Given the description of an element on the screen output the (x, y) to click on. 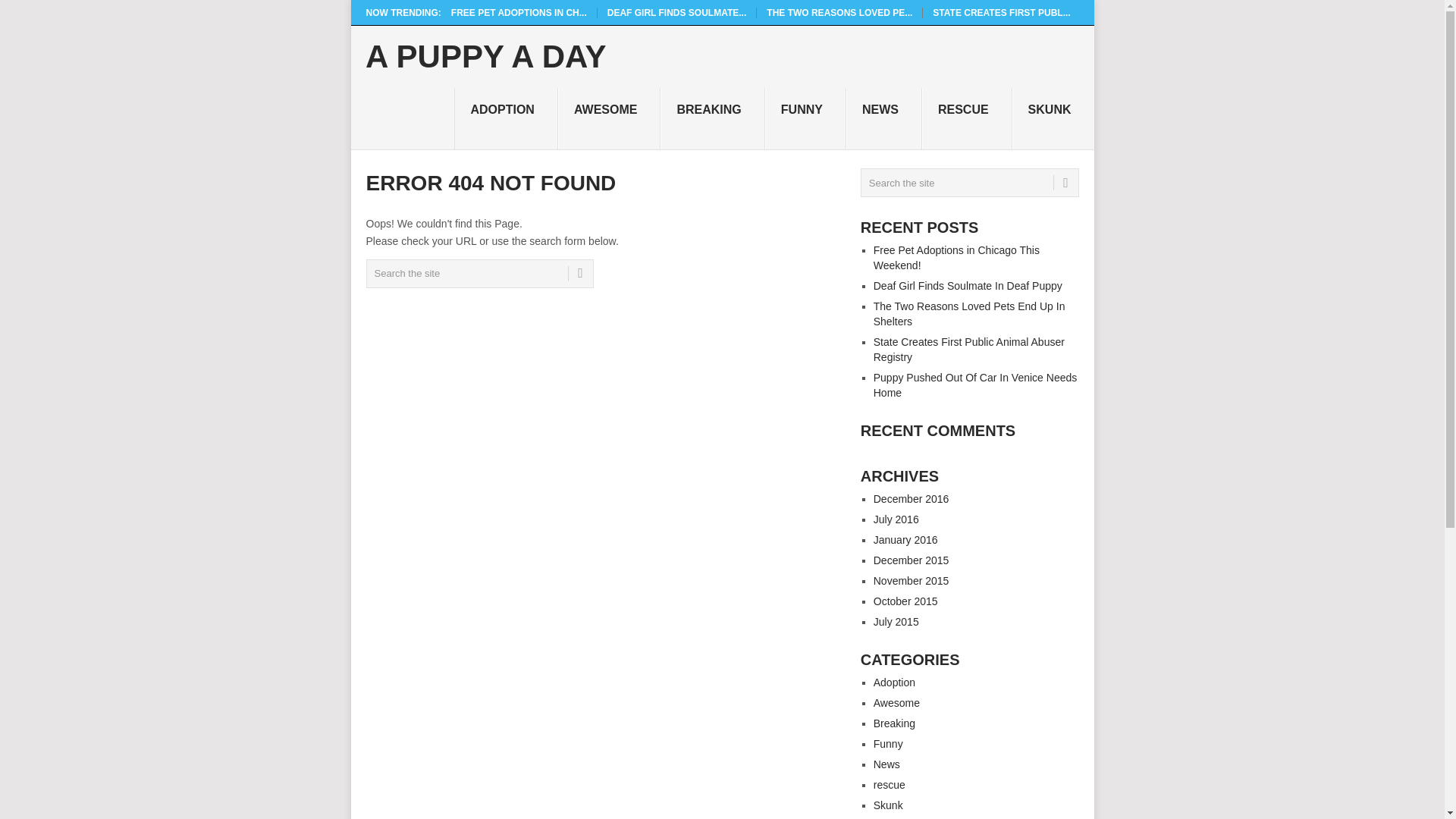
SKUNK (1052, 118)
Adoption (894, 682)
DEAF GIRL FINDS SOULMATE... (676, 12)
ADOPTION (505, 118)
THE TWO REASONS LOVED PE... (839, 12)
rescue (889, 784)
December 2016 (911, 499)
State Creates First Public Animal Abuser Registry (968, 349)
The Two Reasons Loved Pets End Up In Shelters (839, 12)
Search the site (969, 182)
Puppy Pushed Out Of Car In Venice Needs Home (975, 384)
Free Pet Adoptions in Chicago This Weekend! (518, 12)
Search the site (478, 273)
AWESOME (609, 118)
RESCUE (966, 118)
